Given the description of an element on the screen output the (x, y) to click on. 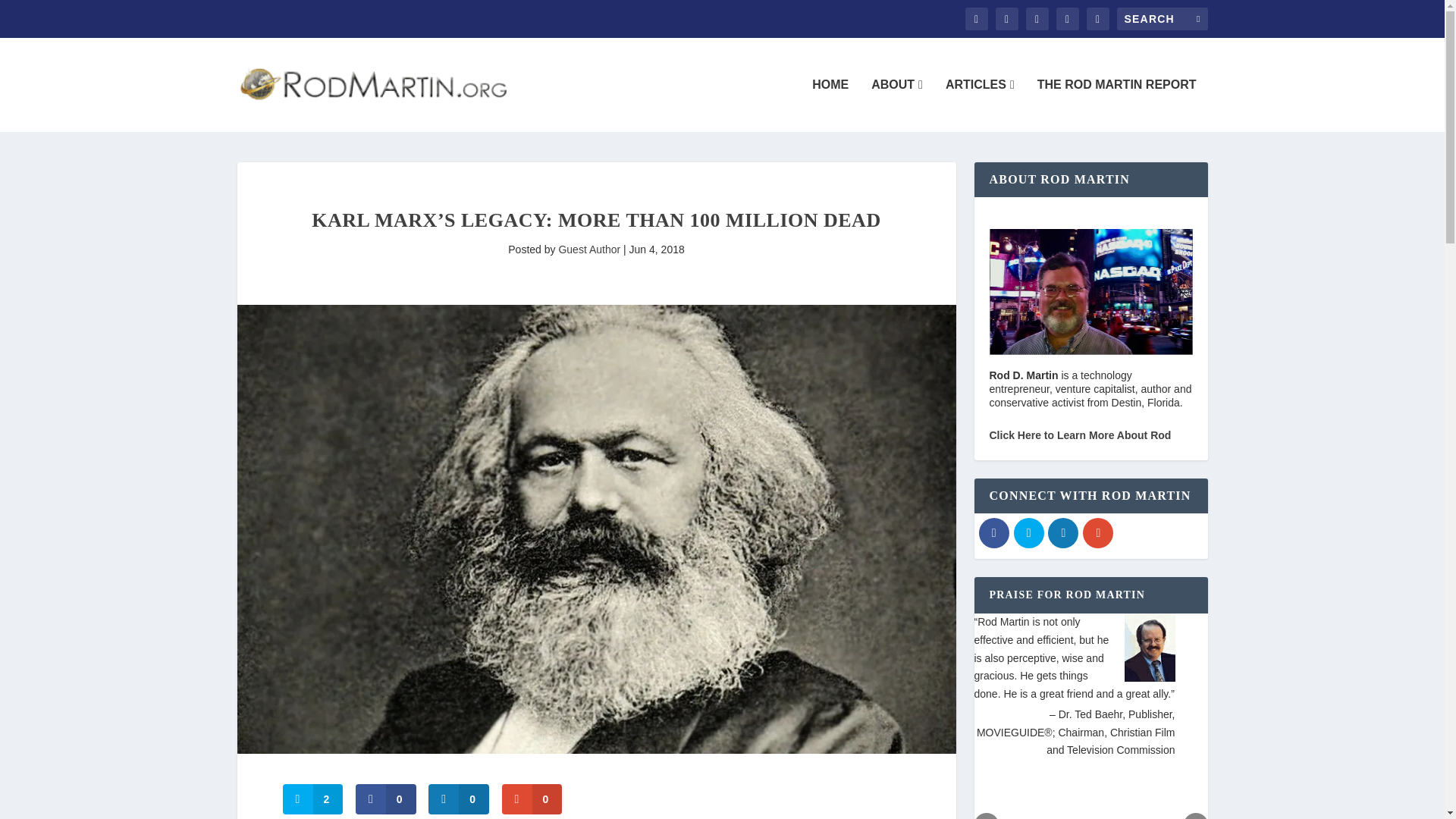
THE ROD MARTIN REPORT (1116, 104)
Posts by Guest Author (588, 249)
Search for: (1161, 18)
ABOUT (896, 104)
HOME (830, 104)
ARTICLES (979, 104)
